Given the description of an element on the screen output the (x, y) to click on. 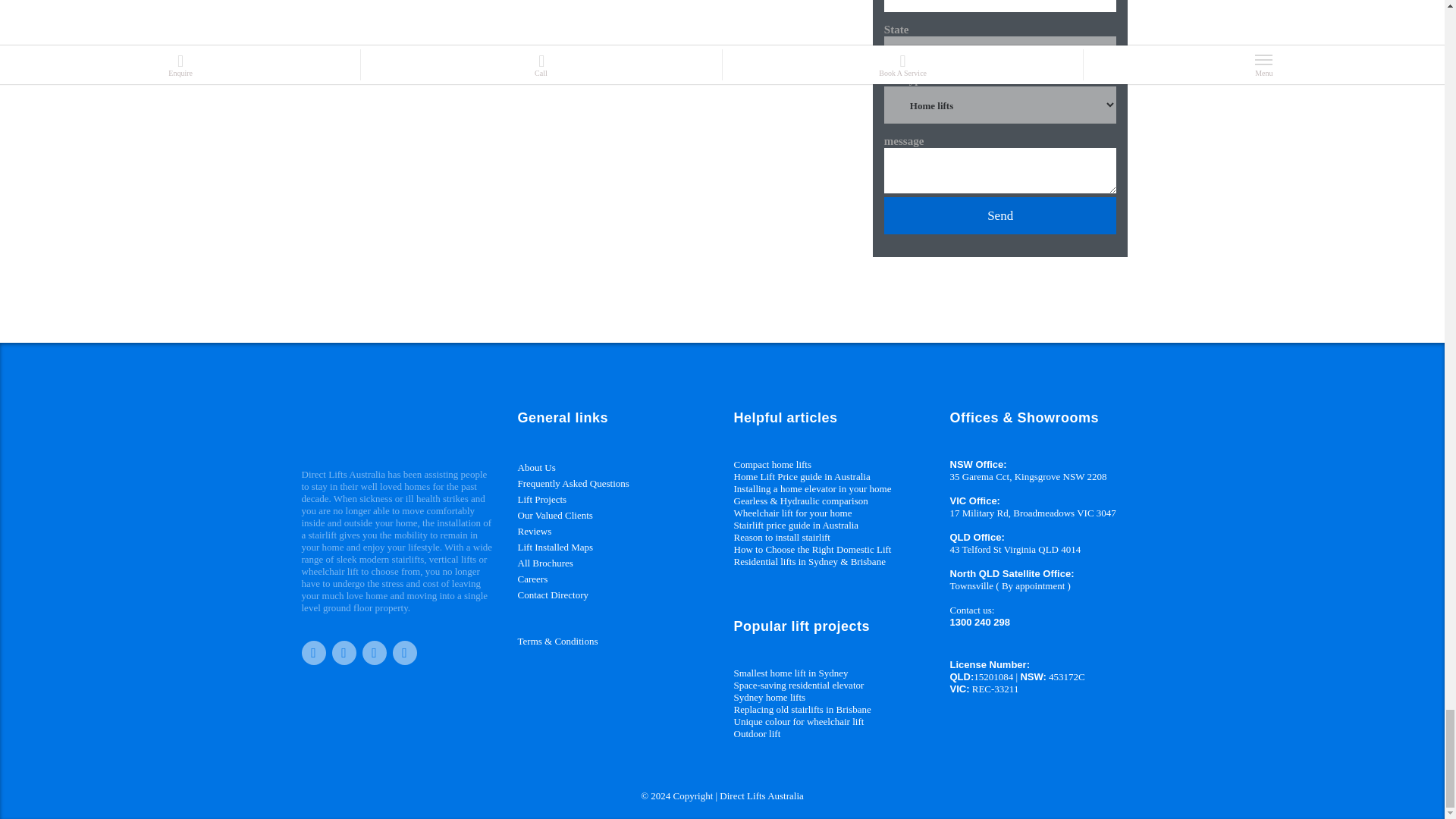
directlifts-contac-form (558, 123)
Send (999, 215)
